Given the description of an element on the screen output the (x, y) to click on. 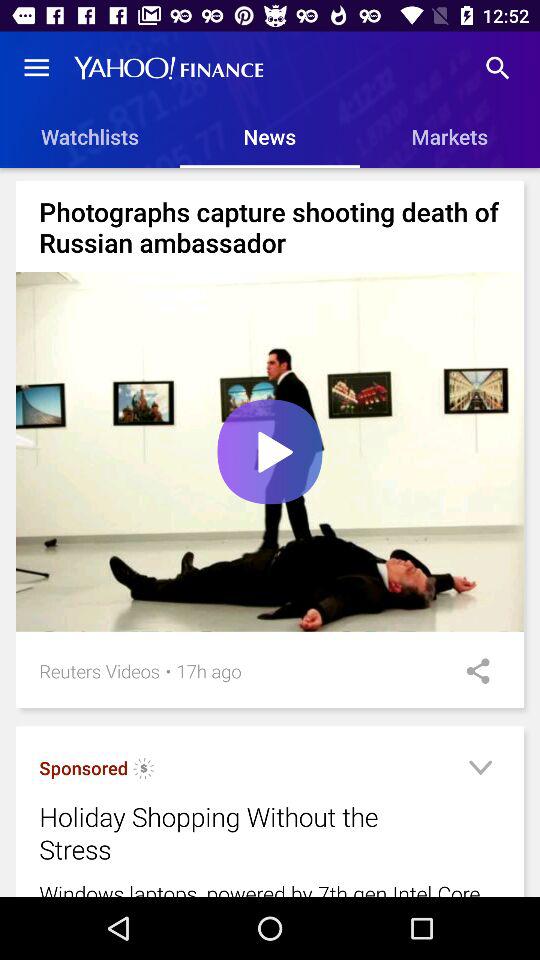
tap the icon below the holiday shopping without (269, 887)
